Given the description of an element on the screen output the (x, y) to click on. 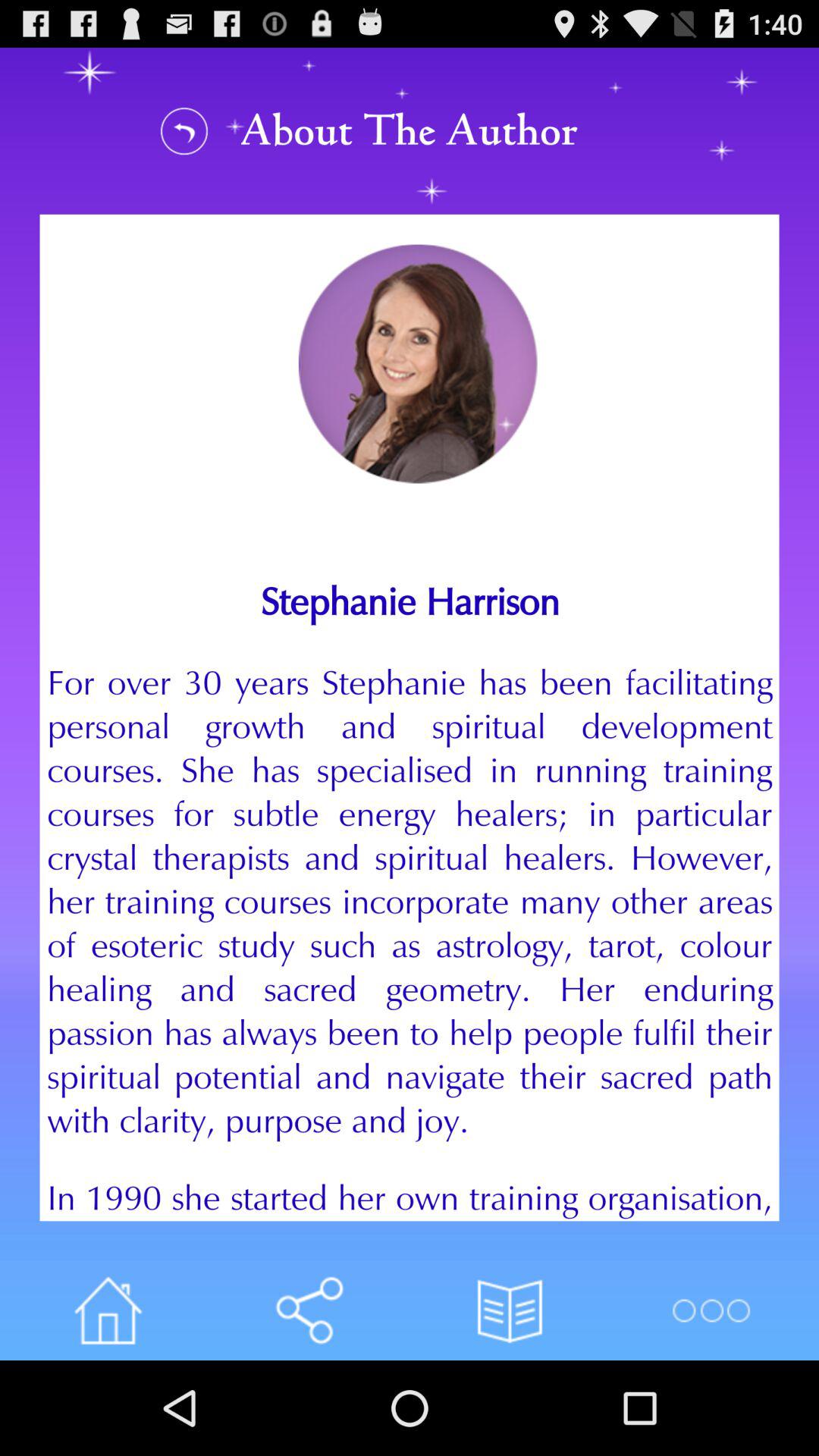
click to share option (308, 1310)
